Given the description of an element on the screen output the (x, y) to click on. 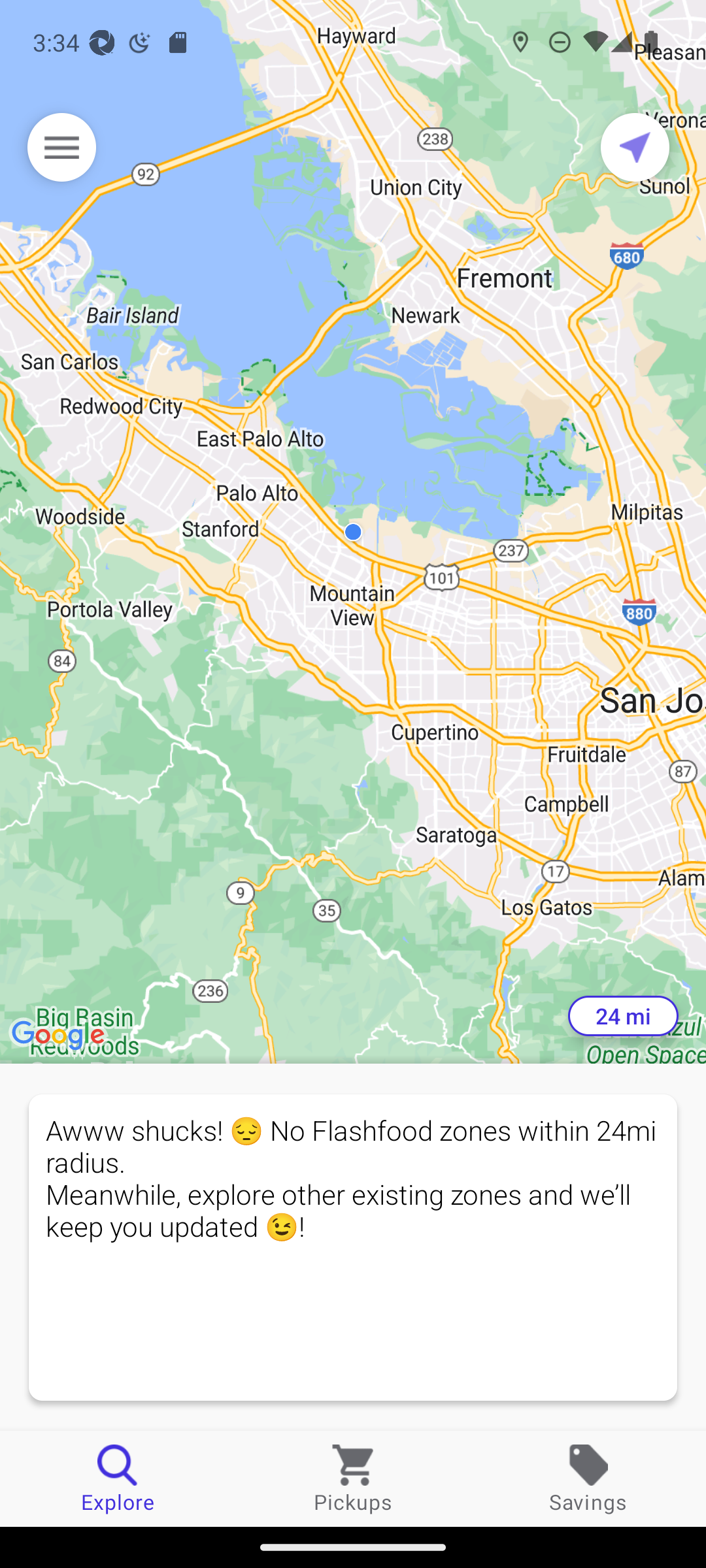
Menu (61, 146)
Current location (634, 146)
24 mi (623, 1015)
Pickups (352, 1478)
Savings (588, 1478)
